Given the description of an element on the screen output the (x, y) to click on. 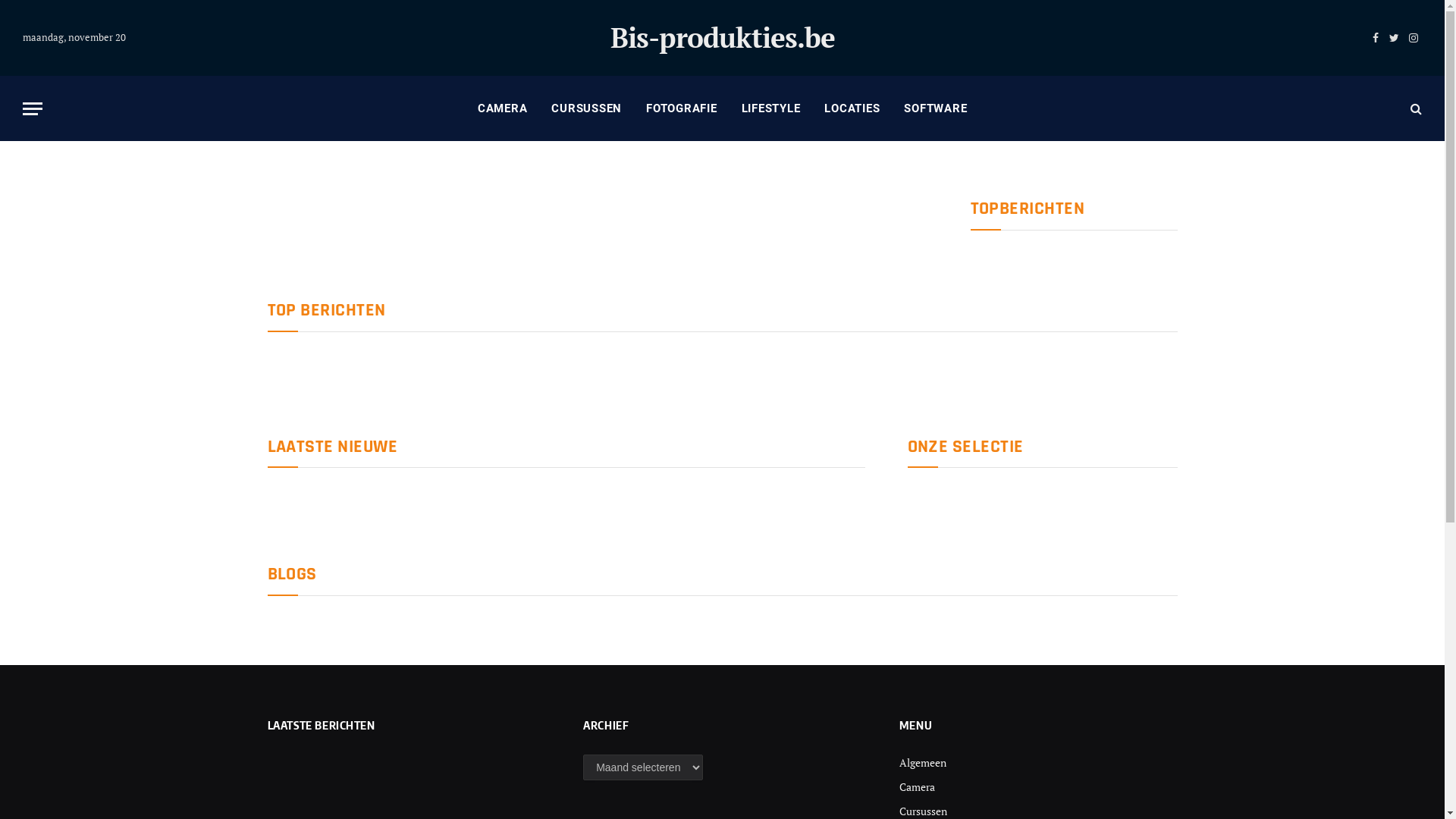
FOTOGRAFIE Element type: text (681, 108)
SOFTWARE Element type: text (935, 108)
CURSUSSEN Element type: text (586, 108)
Instagram Element type: text (1412, 38)
Camera Element type: text (917, 786)
CAMERA Element type: text (502, 108)
LOCATIES Element type: text (851, 108)
Twitter Element type: text (1393, 38)
Search Element type: hover (1414, 108)
Bis-produkties.be Element type: text (721, 37)
Facebook Element type: text (1375, 38)
Algemeen Element type: text (922, 762)
Cursussen Element type: text (923, 810)
LIFESTYLE Element type: text (770, 108)
